Given the description of an element on the screen output the (x, y) to click on. 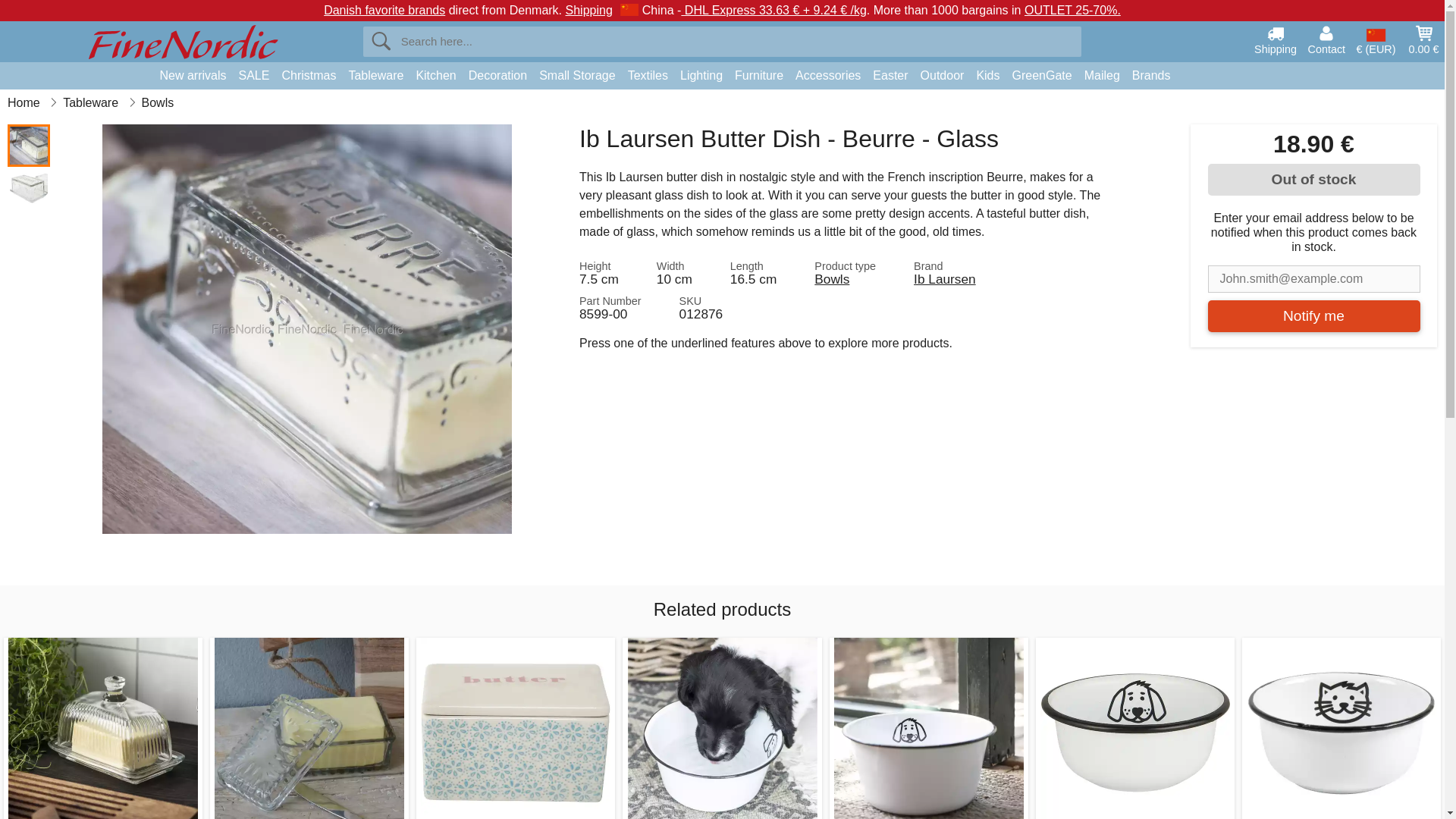
New arrivals (191, 75)
SALE (254, 75)
Danish favorite brands (384, 10)
Contact (1326, 39)
Shipping (1275, 39)
